Given the description of an element on the screen output the (x, y) to click on. 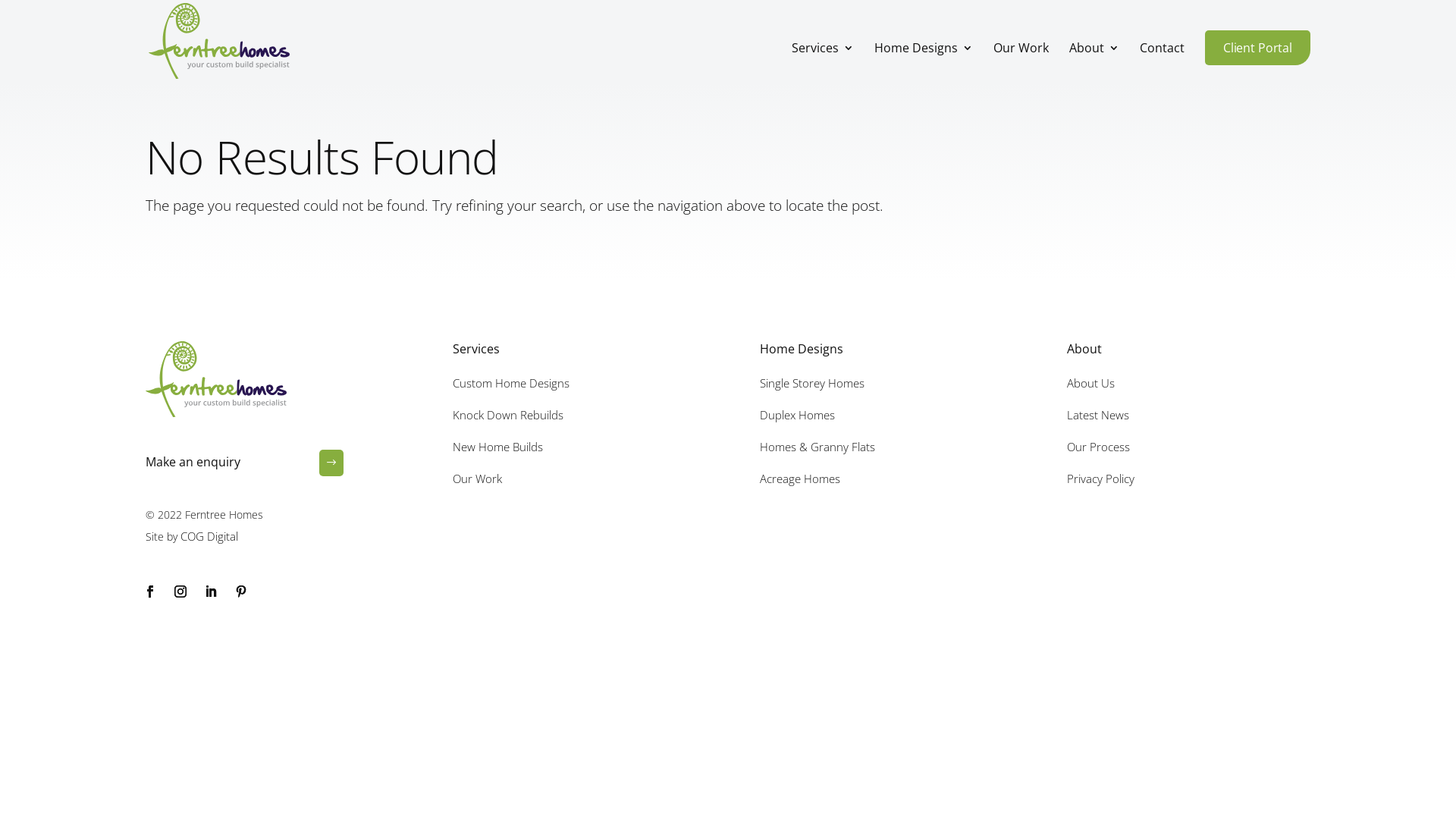
Make an enquiry Element type: text (192, 461)
Single Storey Homes Element type: text (811, 382)
Follow on Pinterest Element type: hover (241, 591)
Follow on Instagram Element type: hover (180, 591)
COG Digital Element type: text (209, 535)
Privacy Policy Element type: text (1100, 478)
Acreage Homes Element type: text (799, 478)
About Element type: text (1094, 62)
Client Portal Element type: text (1257, 47)
Custom Home Designs Element type: text (510, 382)
Follow on Facebook Element type: hover (150, 591)
Knock Down Rebuilds Element type: text (507, 414)
Services Element type: text (822, 62)
Duplex Homes Element type: text (796, 414)
New Home Builds Element type: text (497, 446)
Our Work Element type: text (1020, 62)
Follow on LinkedIn Element type: hover (210, 591)
Our Work Element type: text (477, 478)
About Us Element type: text (1090, 382)
Our Process Element type: text (1097, 446)
Latest News Element type: text (1097, 414)
Homes & Granny Flats Element type: text (817, 446)
Contact Element type: text (1161, 62)
Home Designs Element type: text (923, 62)
Ferntree-Homes-Logo Element type: hover (215, 379)
